Given the description of an element on the screen output the (x, y) to click on. 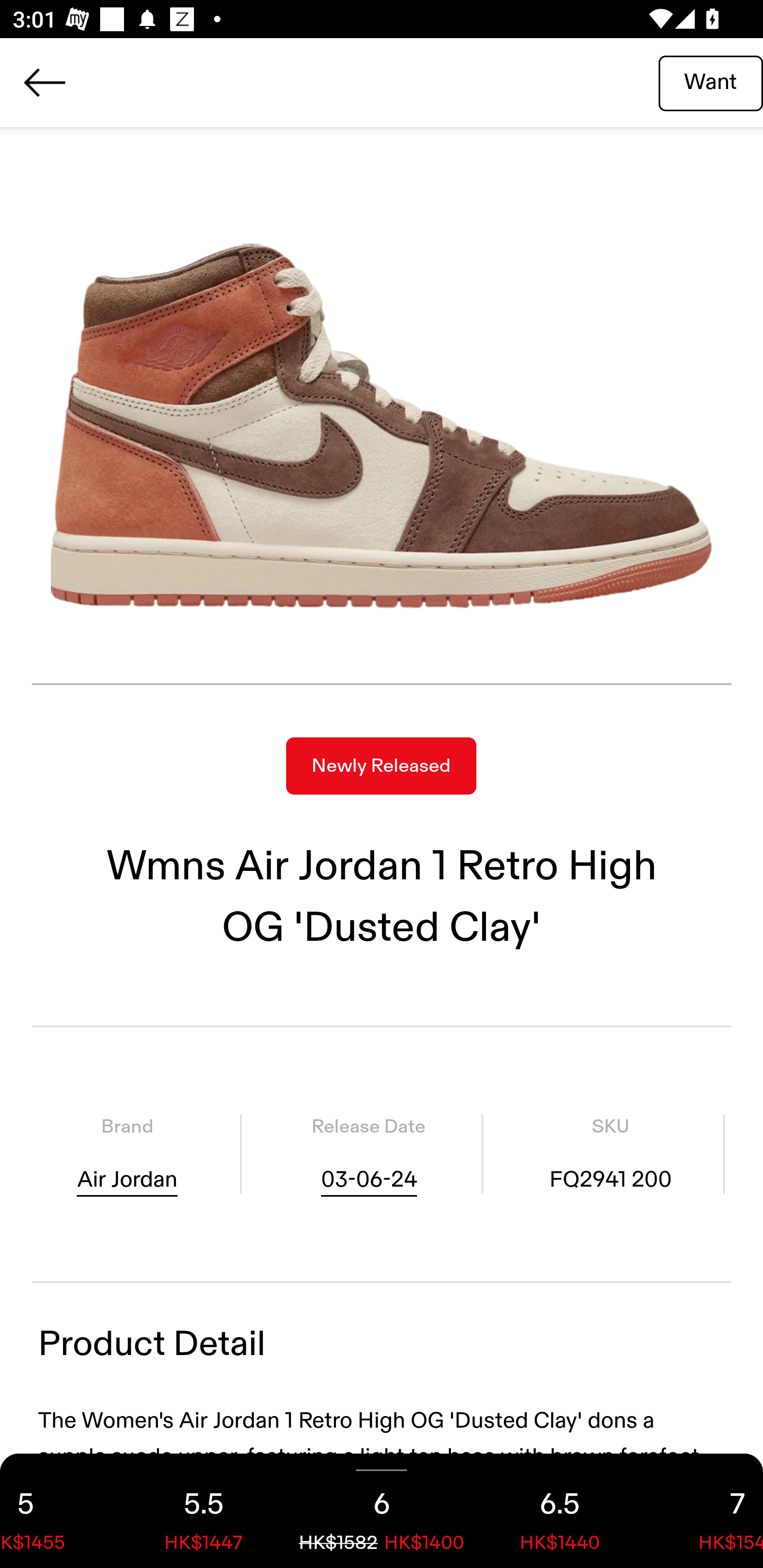
Want (710, 82)
Newly Released (381, 765)
Brand Air Jordan (126, 1153)
Release Date 03-06-24 (368, 1153)
SKU FQ2941 200 (609, 1153)
5 HK$1455 (57, 1510)
5.5 HK$1447 (203, 1510)
6 HK$1582 HK$1400 (381, 1510)
6.5 HK$1440 (559, 1510)
7 HK$1542 (705, 1510)
